Given the description of an element on the screen output the (x, y) to click on. 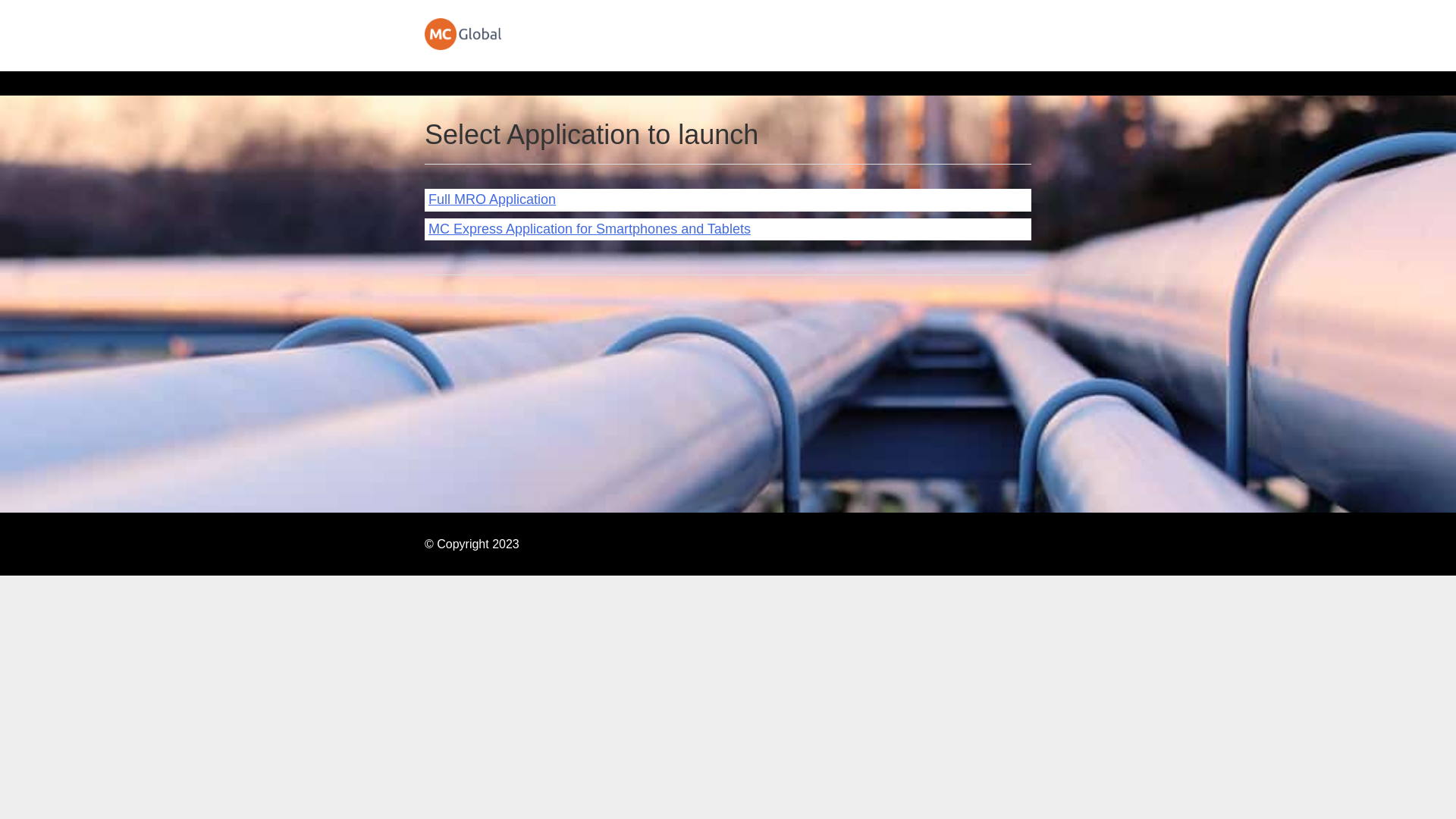
MC Express Application for Smartphones and Tablets Element type: text (589, 228)
Full MRO Application Element type: text (491, 199)
